Given the description of an element on the screen output the (x, y) to click on. 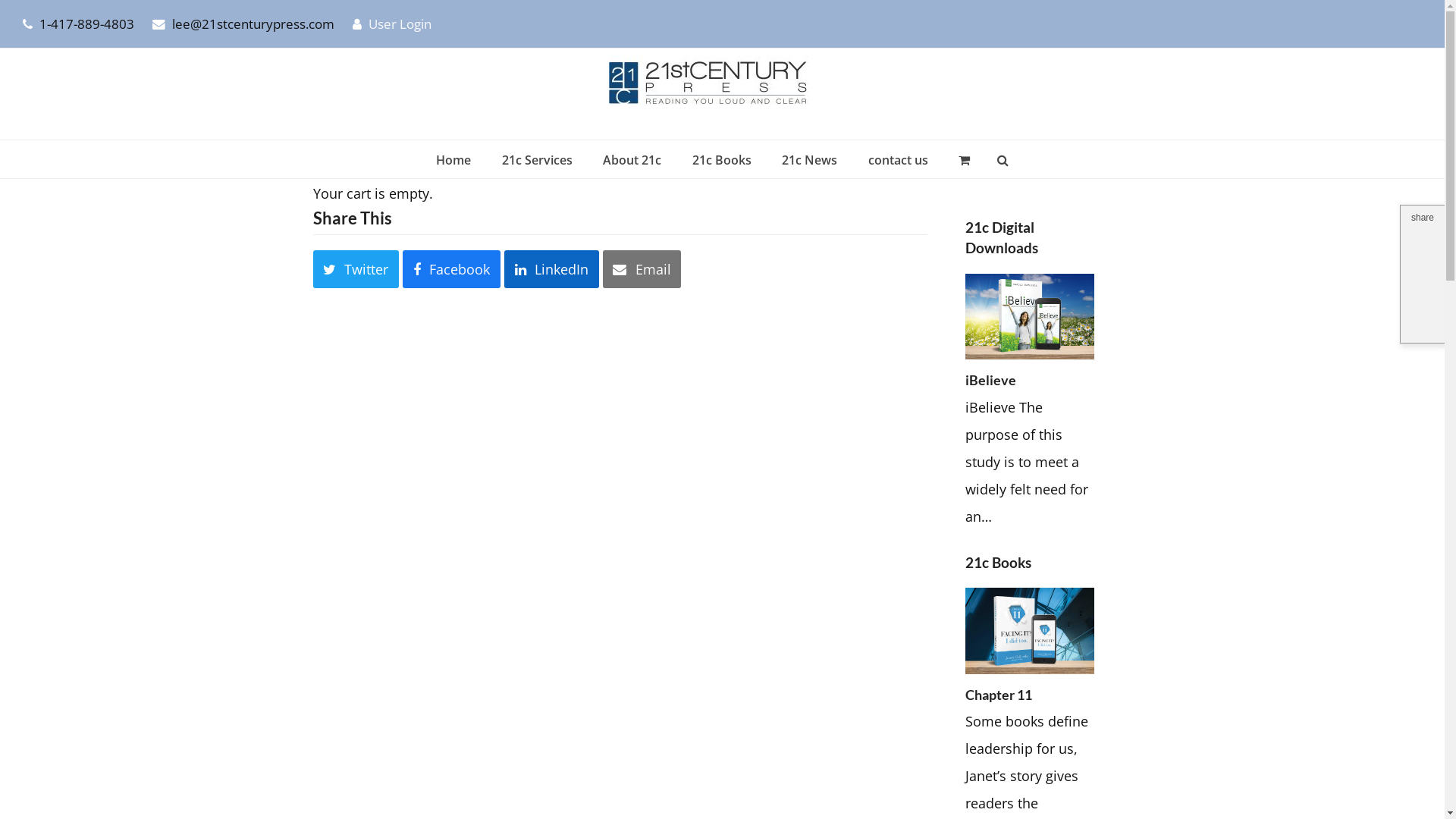
contact us Element type: text (897, 159)
Home Element type: text (453, 159)
Twitter Element type: text (355, 269)
Facebook Element type: text (451, 269)
LinkedIn Element type: text (551, 269)
21c News Element type: text (809, 159)
21c Services Element type: text (537, 159)
User Login Element type: text (399, 23)
21c Books Element type: text (721, 159)
About 21c Element type: text (631, 159)
Email Element type: text (641, 269)
